Given the description of an element on the screen output the (x, y) to click on. 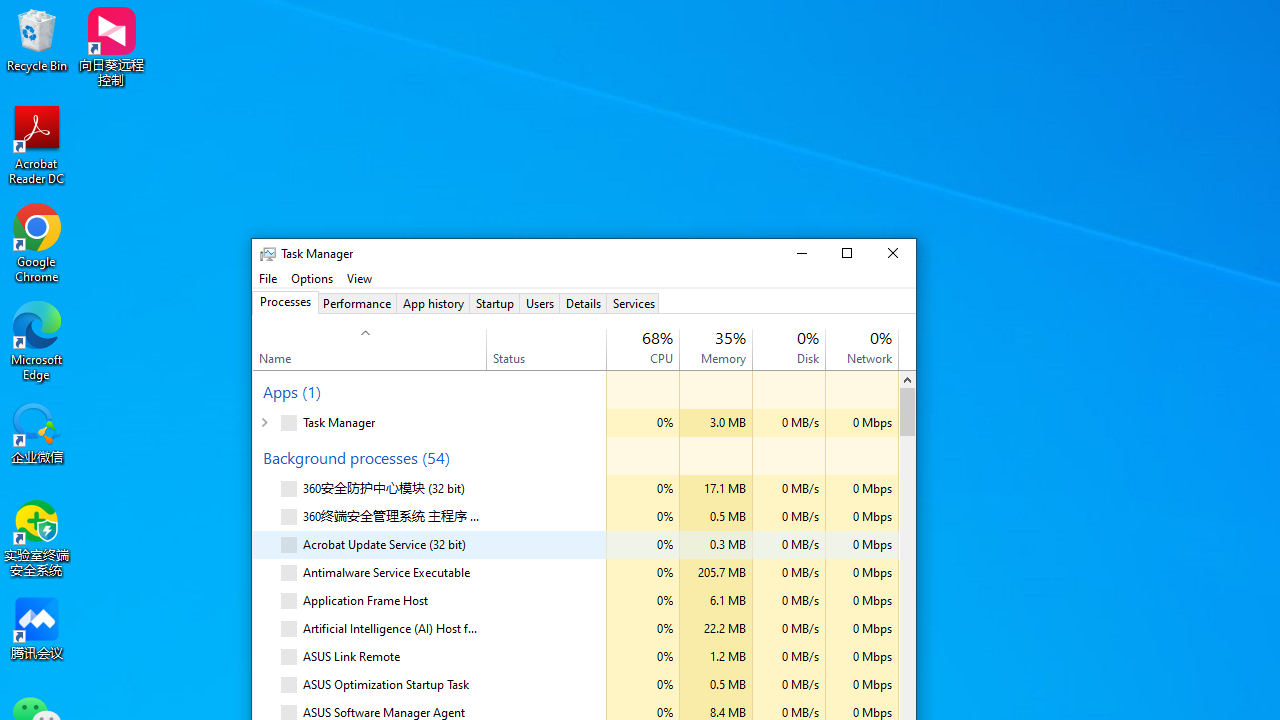
Network (861, 685)
0% (880, 336)
Application (584, 278)
Processes (285, 303)
2% (807, 336)
Disk (788, 685)
19% (657, 336)
CPU (642, 685)
Performance (356, 303)
File (268, 278)
